Given the description of an element on the screen output the (x, y) to click on. 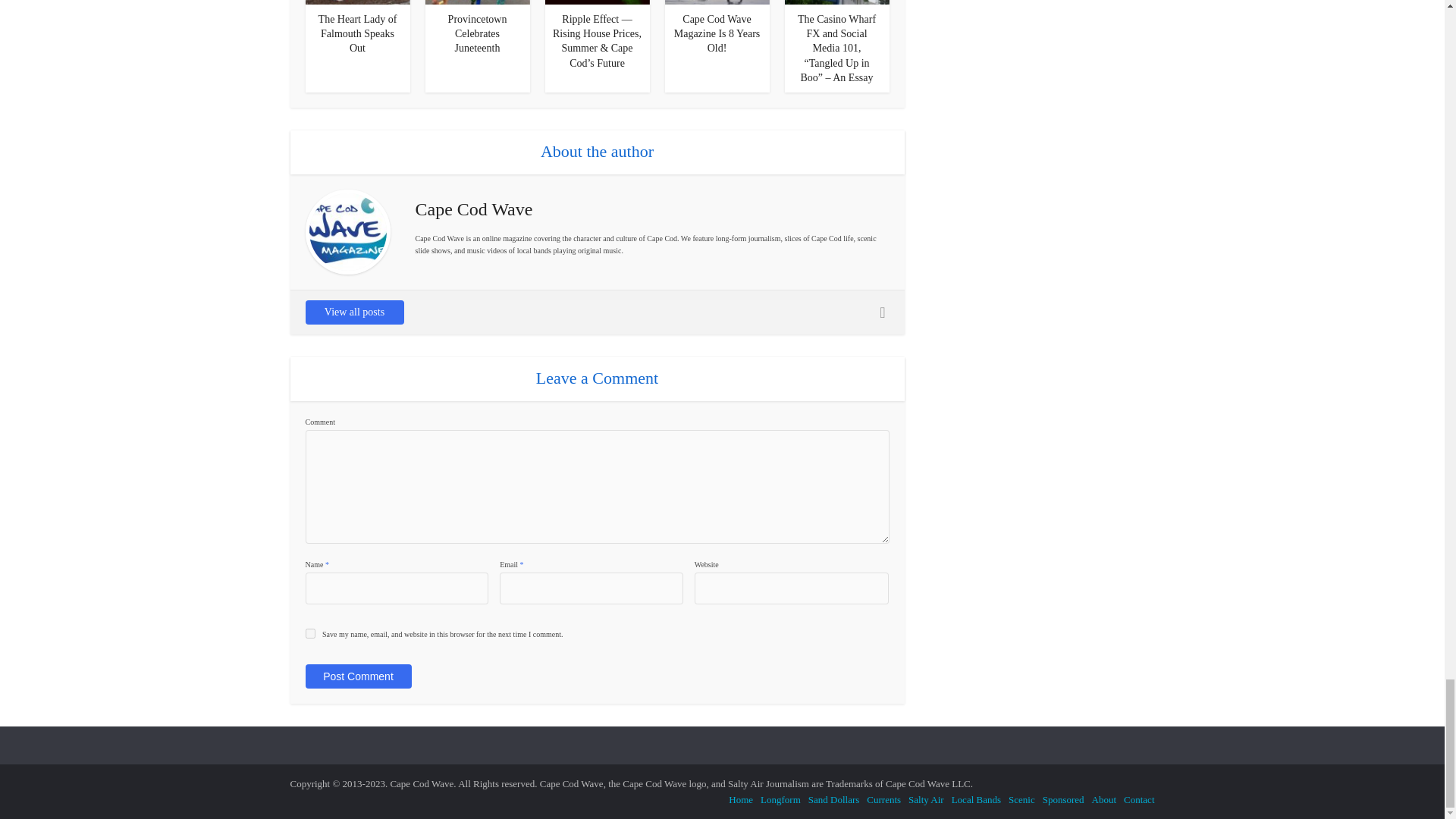
yes (309, 633)
Post Comment (357, 676)
